Given the description of an element on the screen output the (x, y) to click on. 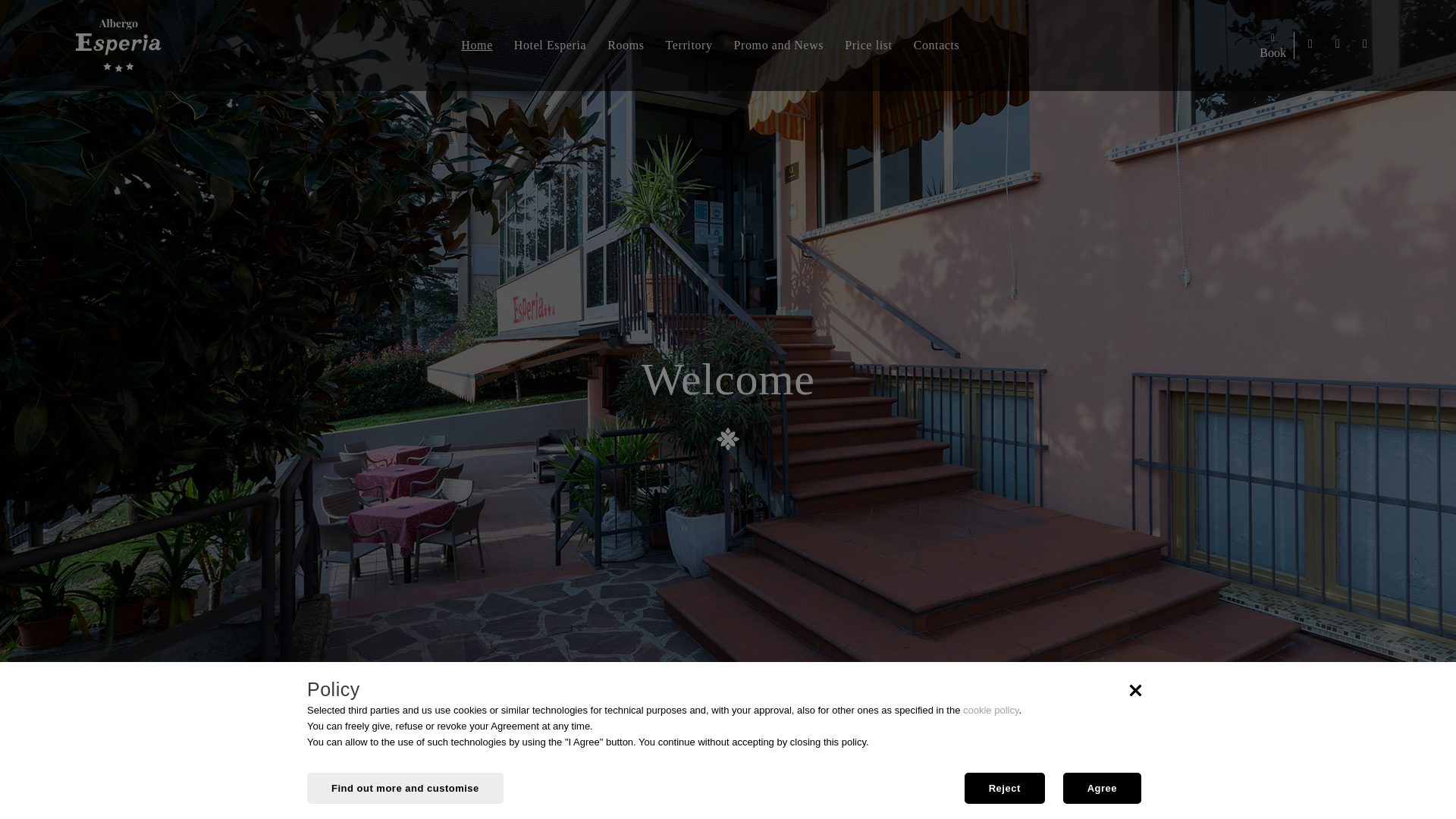
Contacts (936, 44)
Hotel Esperia (550, 44)
Promo and News (778, 44)
Rooms (625, 44)
Book (1272, 44)
Price list (868, 44)
Territory (689, 44)
Home (476, 44)
